Given the description of an element on the screen output the (x, y) to click on. 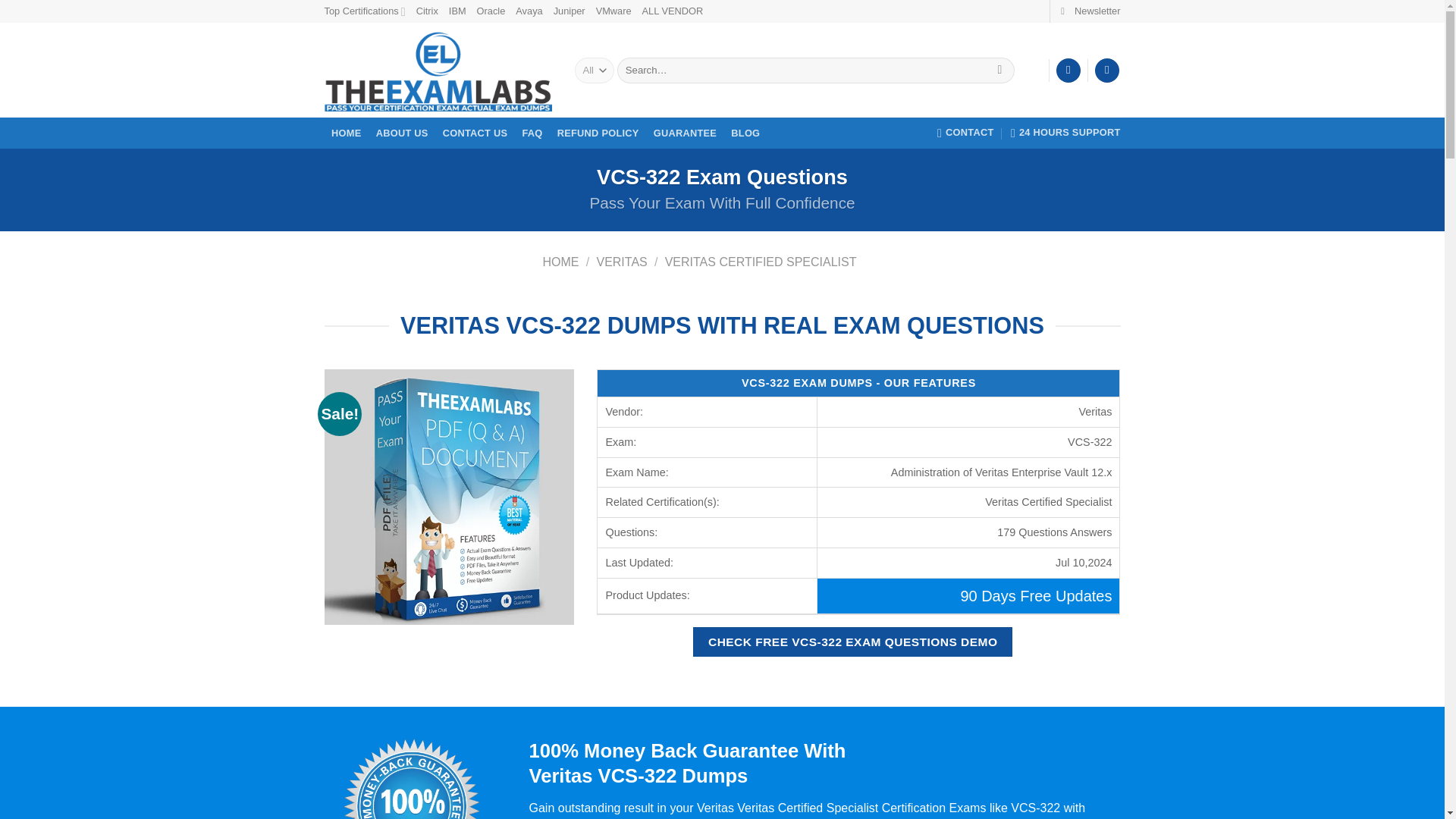
TheExamLabs (437, 70)
Avaya (528, 11)
Oracle (491, 11)
Newsletter (1090, 11)
Cart (1106, 70)
VMware (613, 11)
Top Certifications (365, 11)
Juniper (569, 11)
Citrix (427, 11)
ALL VENDOR (672, 11)
ExamLabs-Dumps (449, 496)
